Given the description of an element on the screen output the (x, y) to click on. 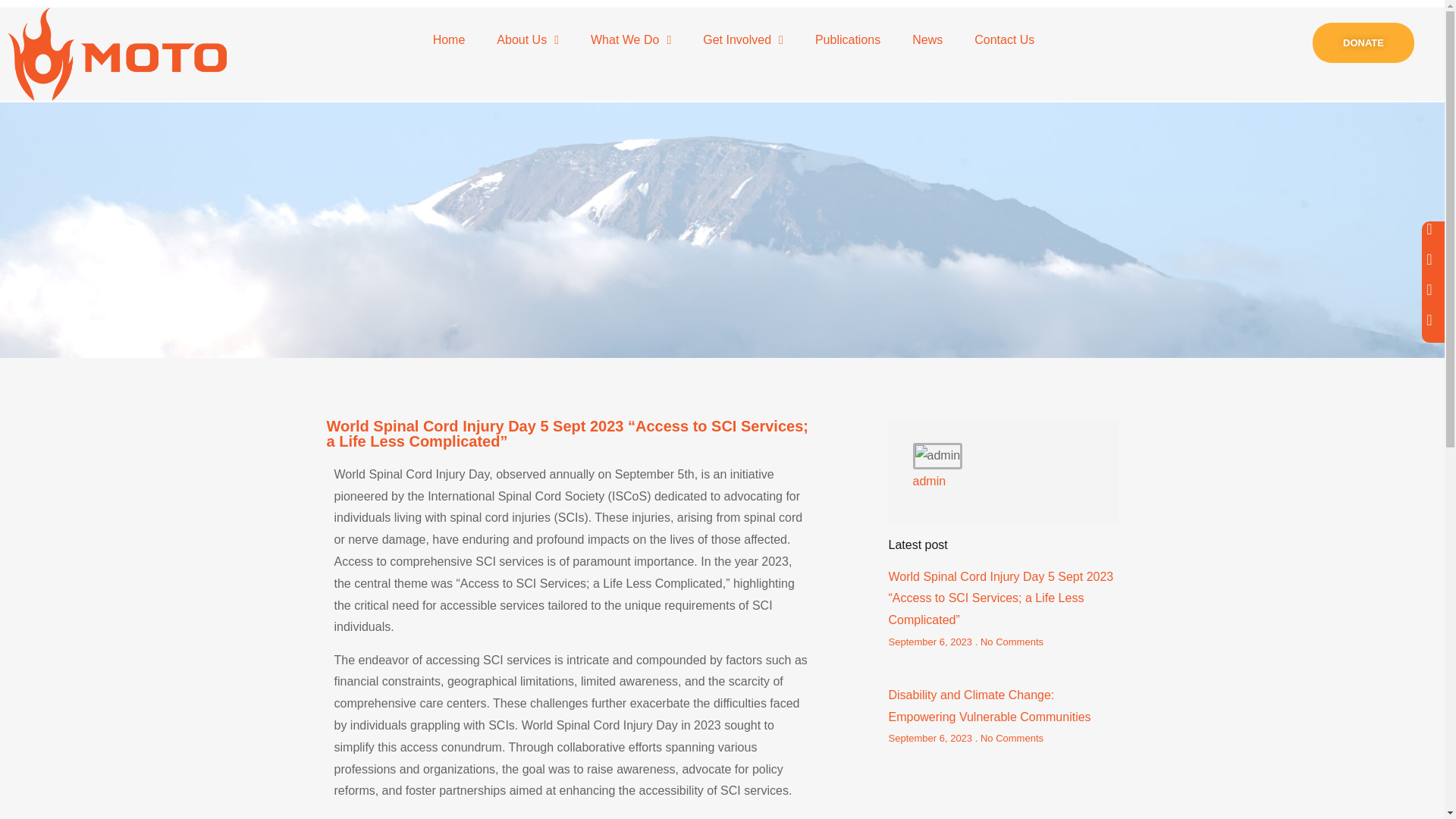
News (927, 39)
Publications (848, 39)
Home (449, 39)
About Us (527, 39)
Contact Us (1004, 39)
DONATE (1363, 42)
Get Involved (742, 39)
What We Do (630, 39)
